Given the description of an element on the screen output the (x, y) to click on. 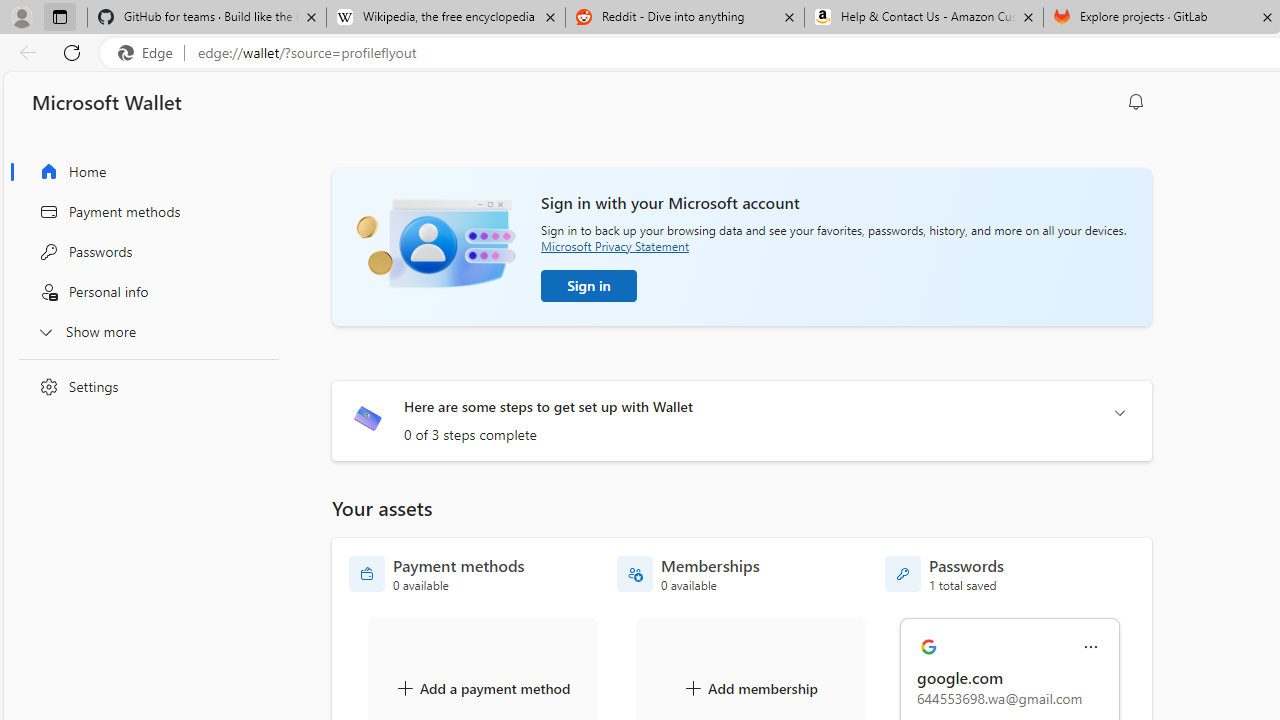
Sign in (589, 285)
Notification (1136, 101)
Microsoft Privacy Statement (614, 246)
Reddit - Dive into anything (684, 17)
Payment methods (143, 211)
More actions (1091, 647)
Passwords (143, 252)
Payment methods - 0 available (437, 573)
Wikipedia, the free encyclopedia (445, 17)
Edge (150, 53)
